Given the description of an element on the screen output the (x, y) to click on. 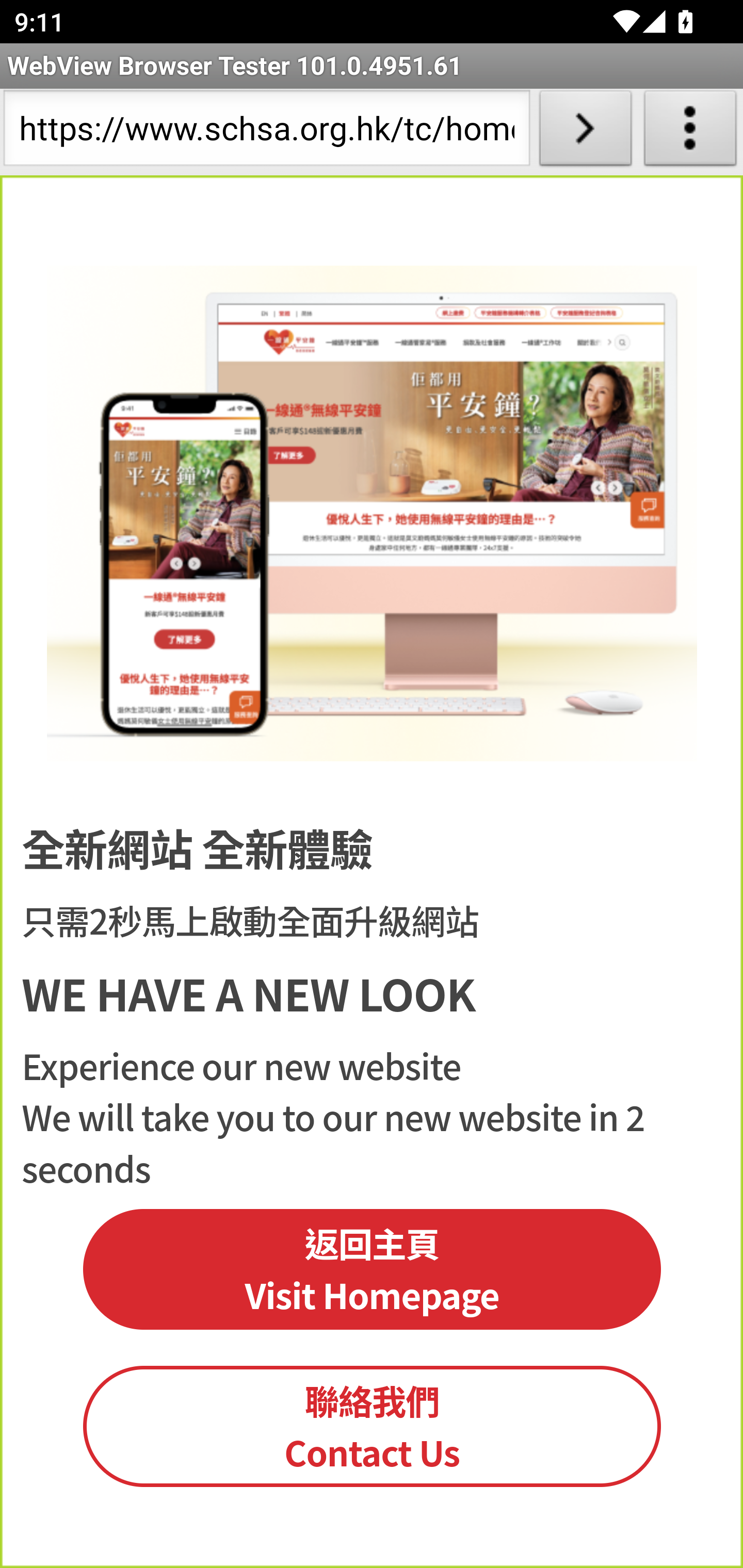
Load URL (585, 132)
About WebView (690, 132)
返回主頁 Visit Homepage 返回主頁 Visit Homepage (372, 1269)
聯絡我們 Contact Us 聯絡我們 Contact Us (372, 1426)
